Given the description of an element on the screen output the (x, y) to click on. 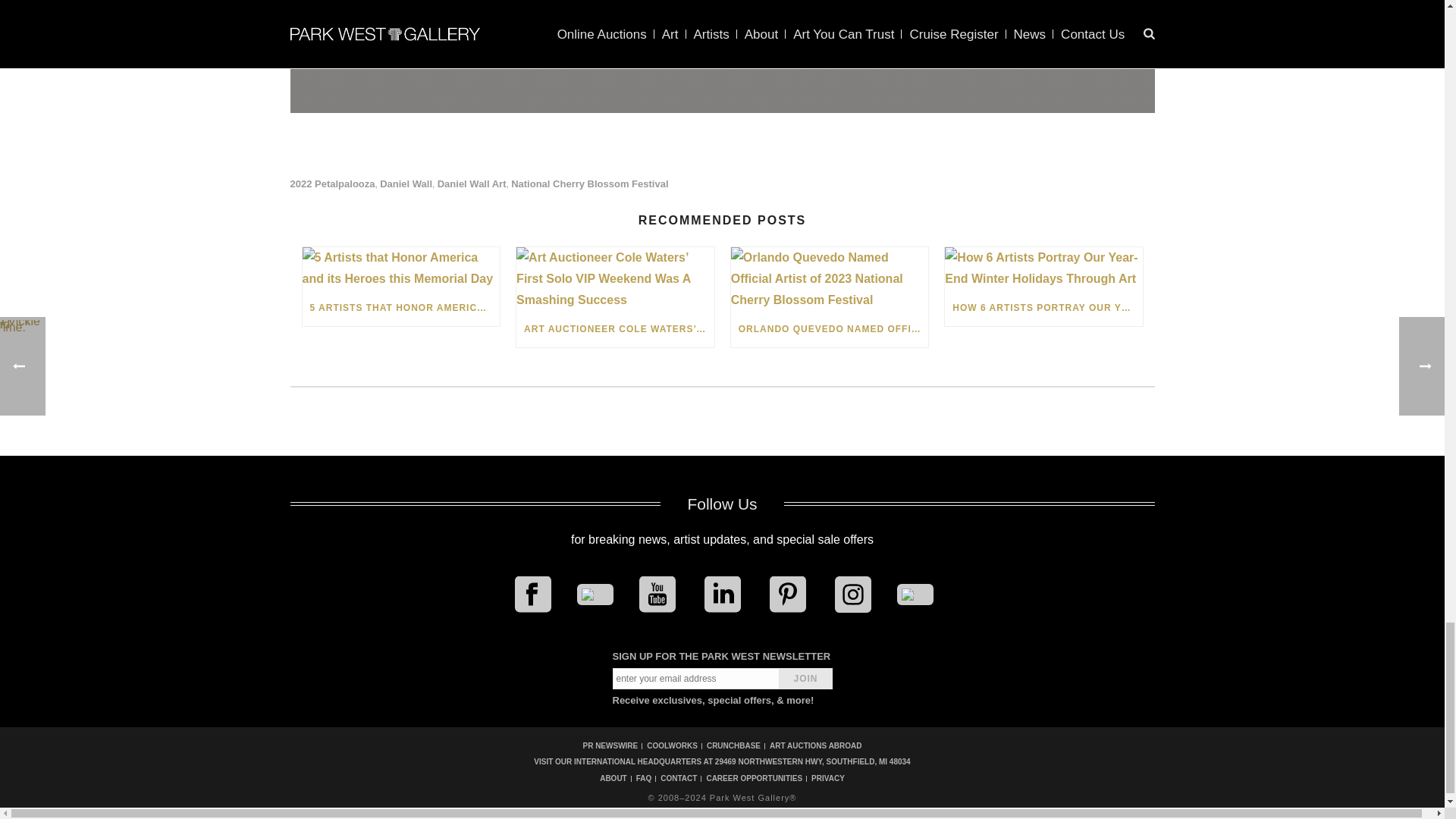
Join (805, 678)
